Given the description of an element on the screen output the (x, y) to click on. 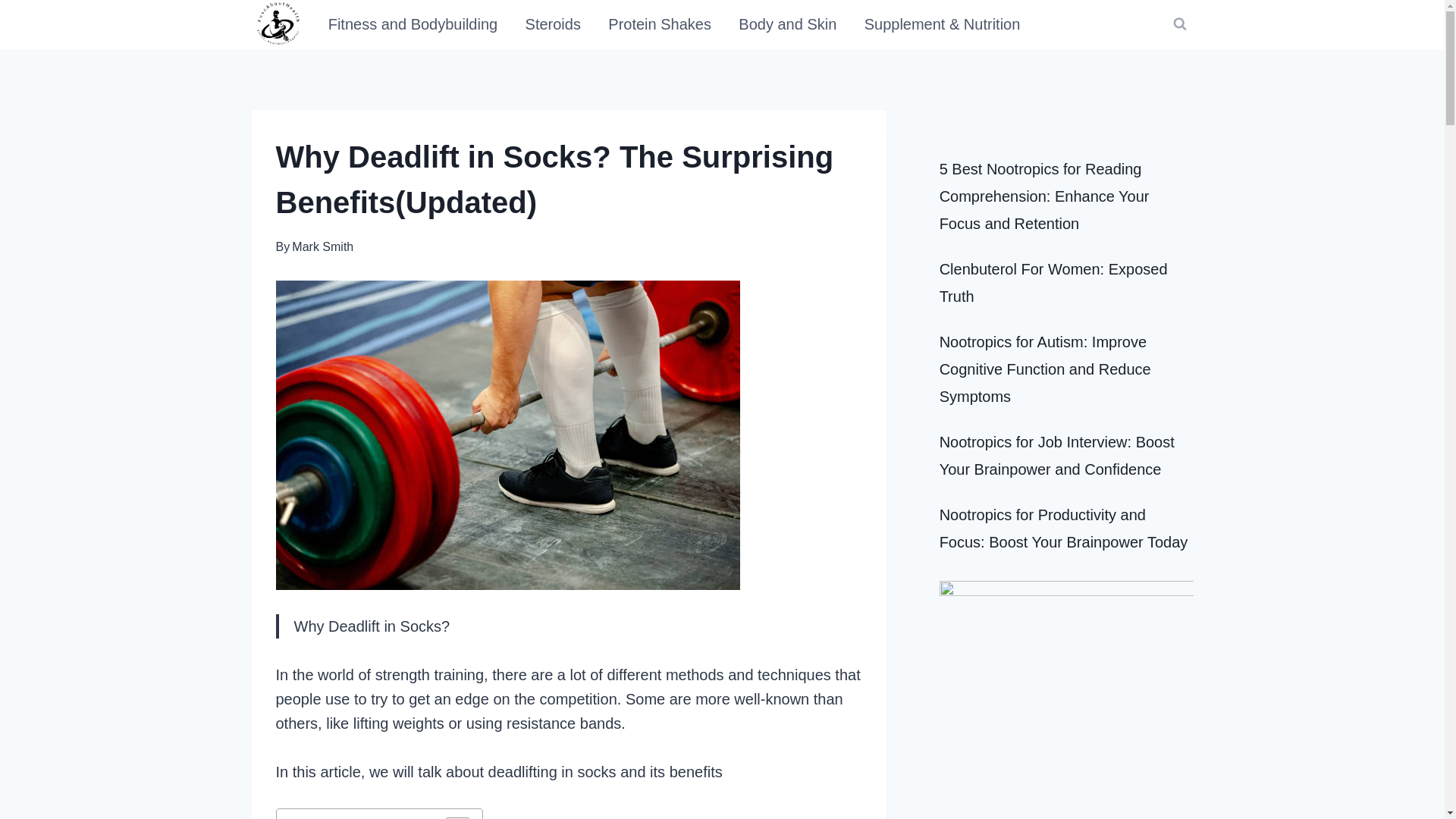
Mark Smith (322, 246)
Body and Skin (787, 24)
Protein Shakes (659, 24)
Steroids (552, 24)
Fitness and Bodybuilding (412, 24)
